Given the description of an element on the screen output the (x, y) to click on. 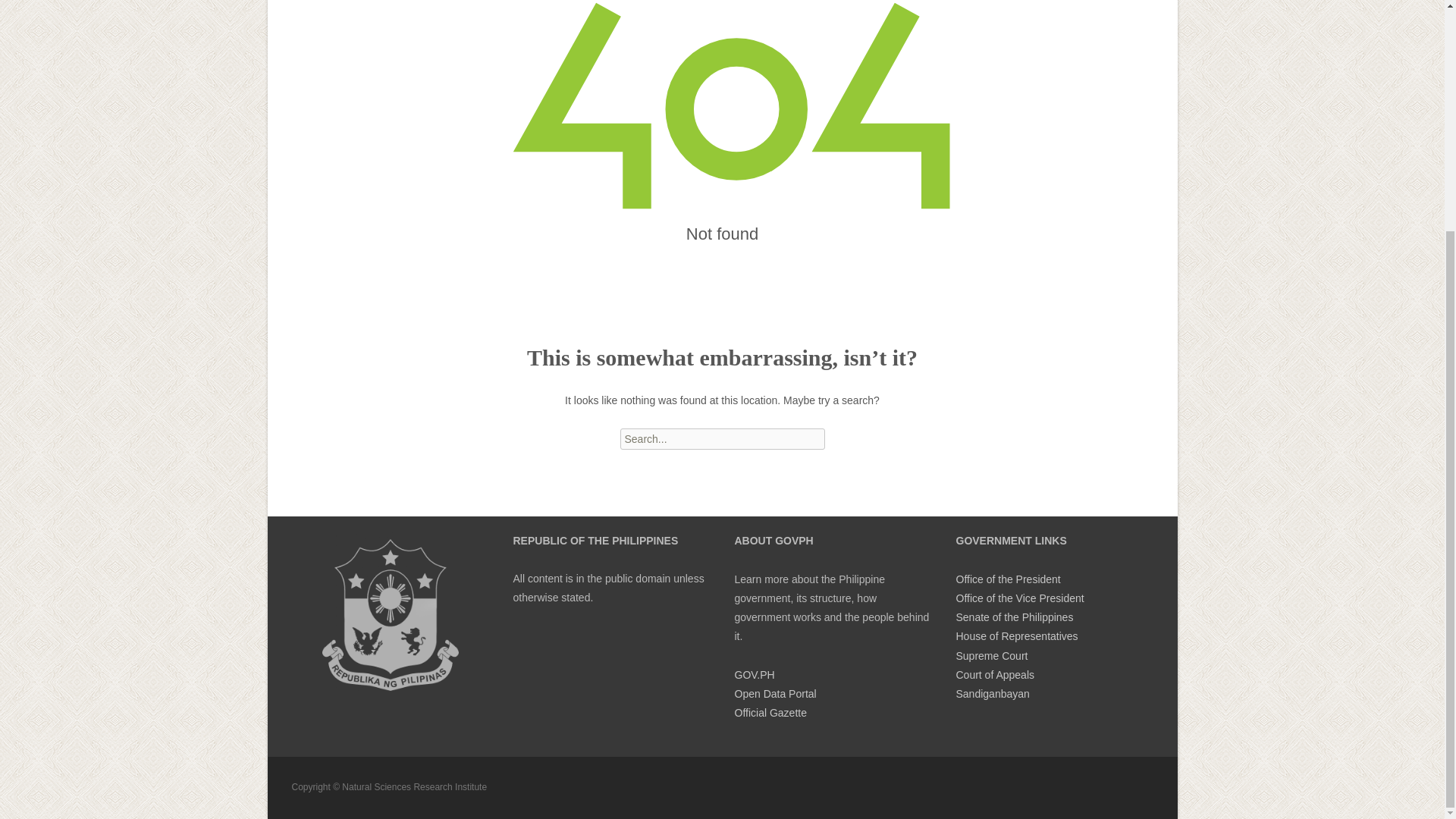
Office of the President (1007, 579)
Supreme Court (991, 655)
Office of the Vice President (1019, 598)
Official Gazette (769, 712)
Sandiganbayan (992, 693)
Court of Appeals (994, 674)
House of Representatives (1016, 635)
Open Data Portal (774, 693)
Search for: (722, 438)
Senate of the Philippines (1014, 616)
GOV.PH (753, 674)
